Given the description of an element on the screen output the (x, y) to click on. 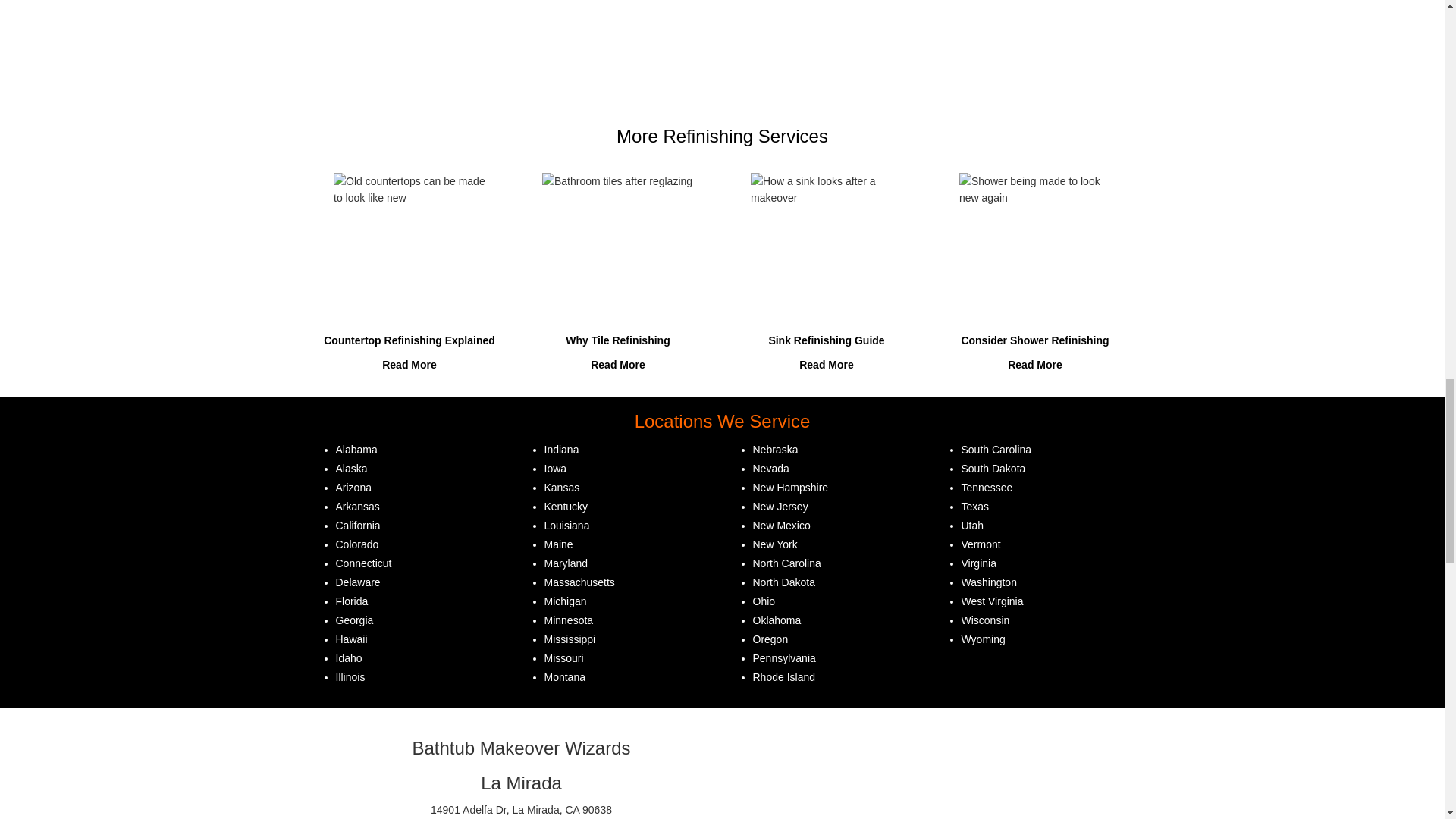
Iowa (555, 468)
Read More (618, 364)
Connecticut (362, 563)
Alaska (350, 468)
Arizona (352, 487)
California (357, 525)
Maine (558, 544)
Illinois (349, 676)
Alabama (355, 449)
Arkansas (356, 506)
